Given the description of an element on the screen output the (x, y) to click on. 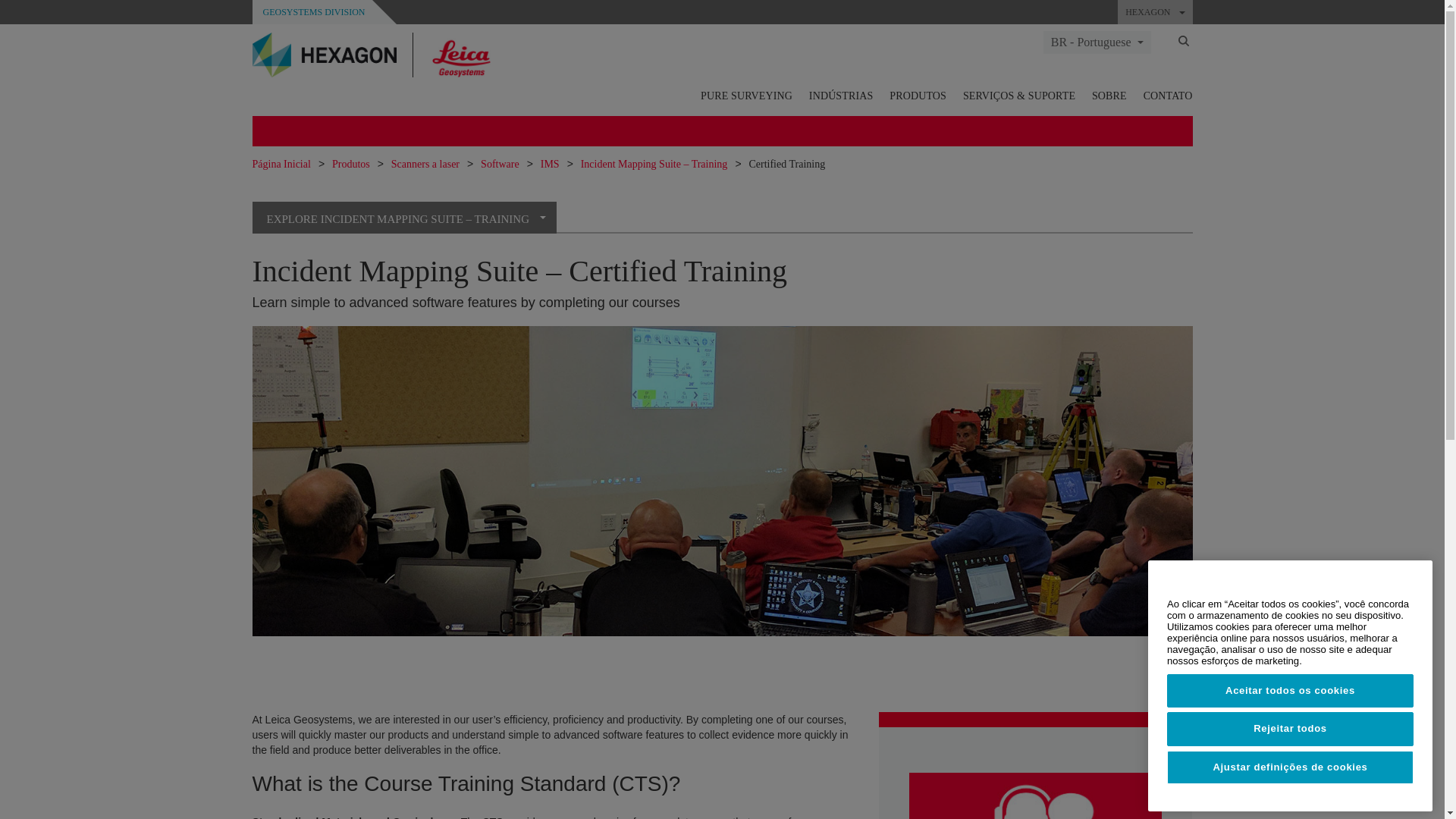
Search (1183, 40)
HEXAGON (1155, 12)
GEOSYSTEMS DIVISION (312, 11)
